Given the description of an element on the screen output the (x, y) to click on. 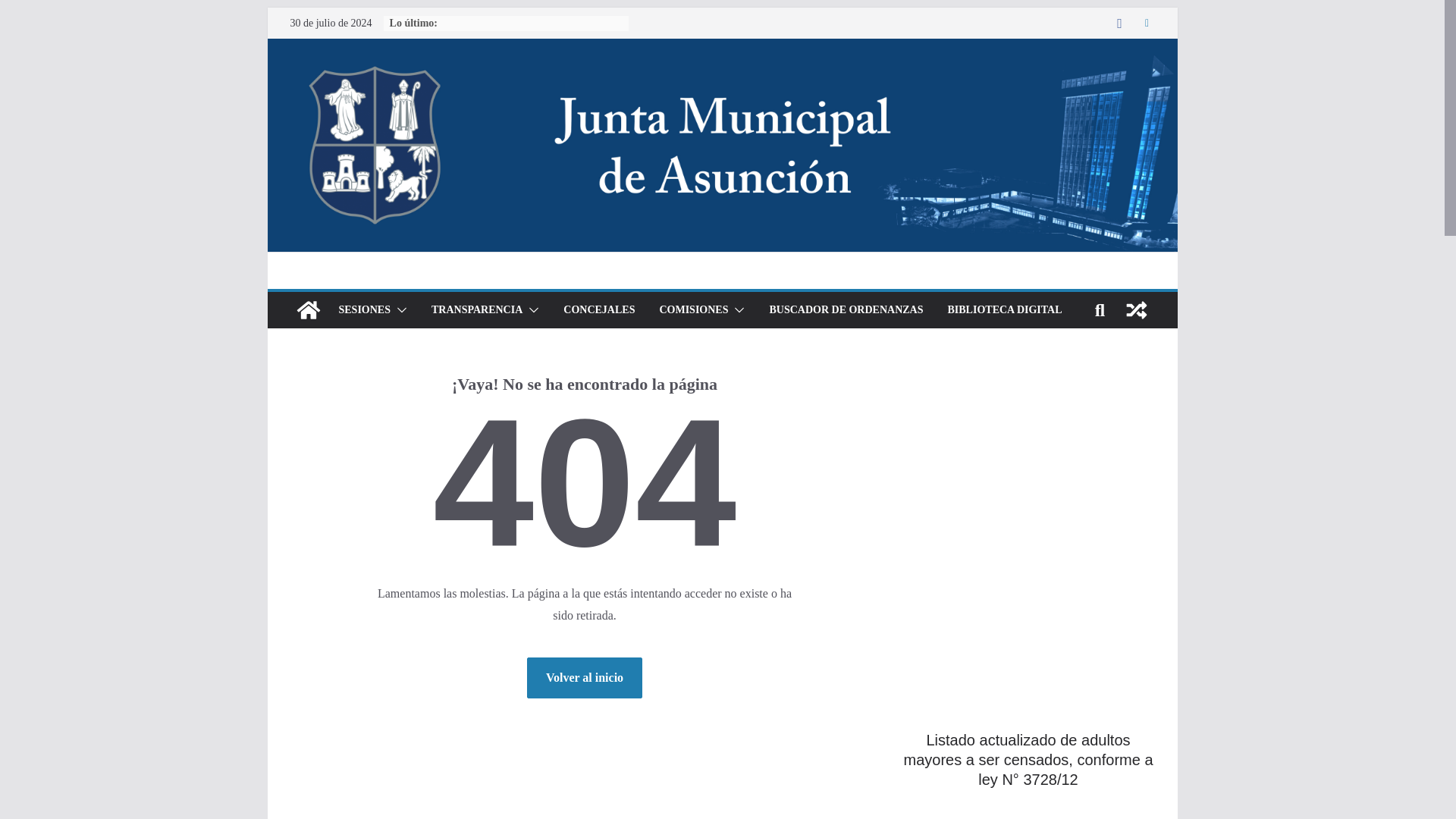
Ver una entrada aleatoria (1136, 309)
COMISIONES (693, 310)
Volver al inicio (584, 678)
BUSCADOR DE ORDENANZAS (845, 310)
CONCEJALES (598, 310)
BIBLIOTECA DIGITAL (1004, 310)
SESIONES (363, 310)
TRANSPARENCIA (476, 310)
